Given the description of an element on the screen output the (x, y) to click on. 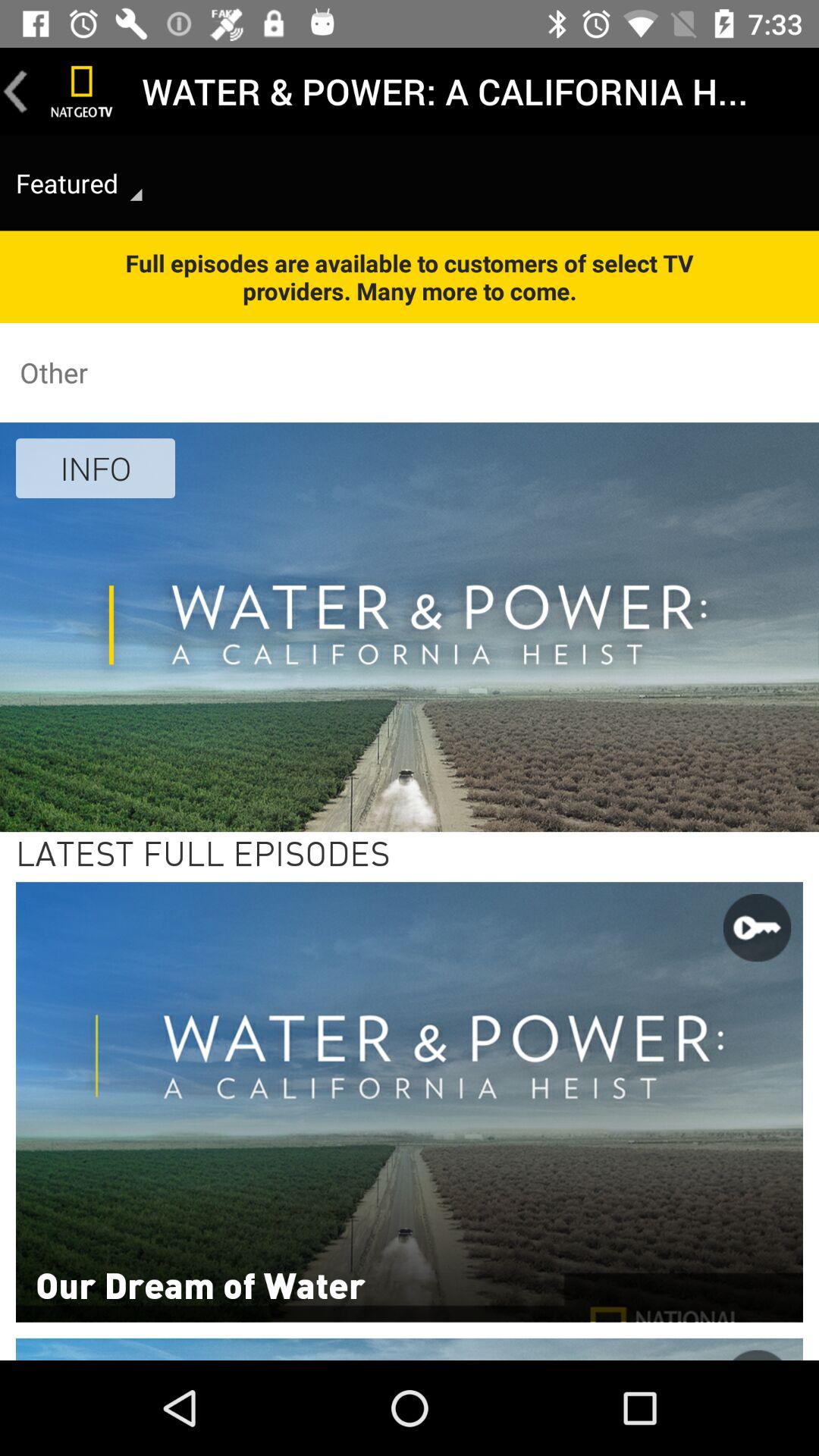
go to previous (15, 91)
